Given the description of an element on the screen output the (x, y) to click on. 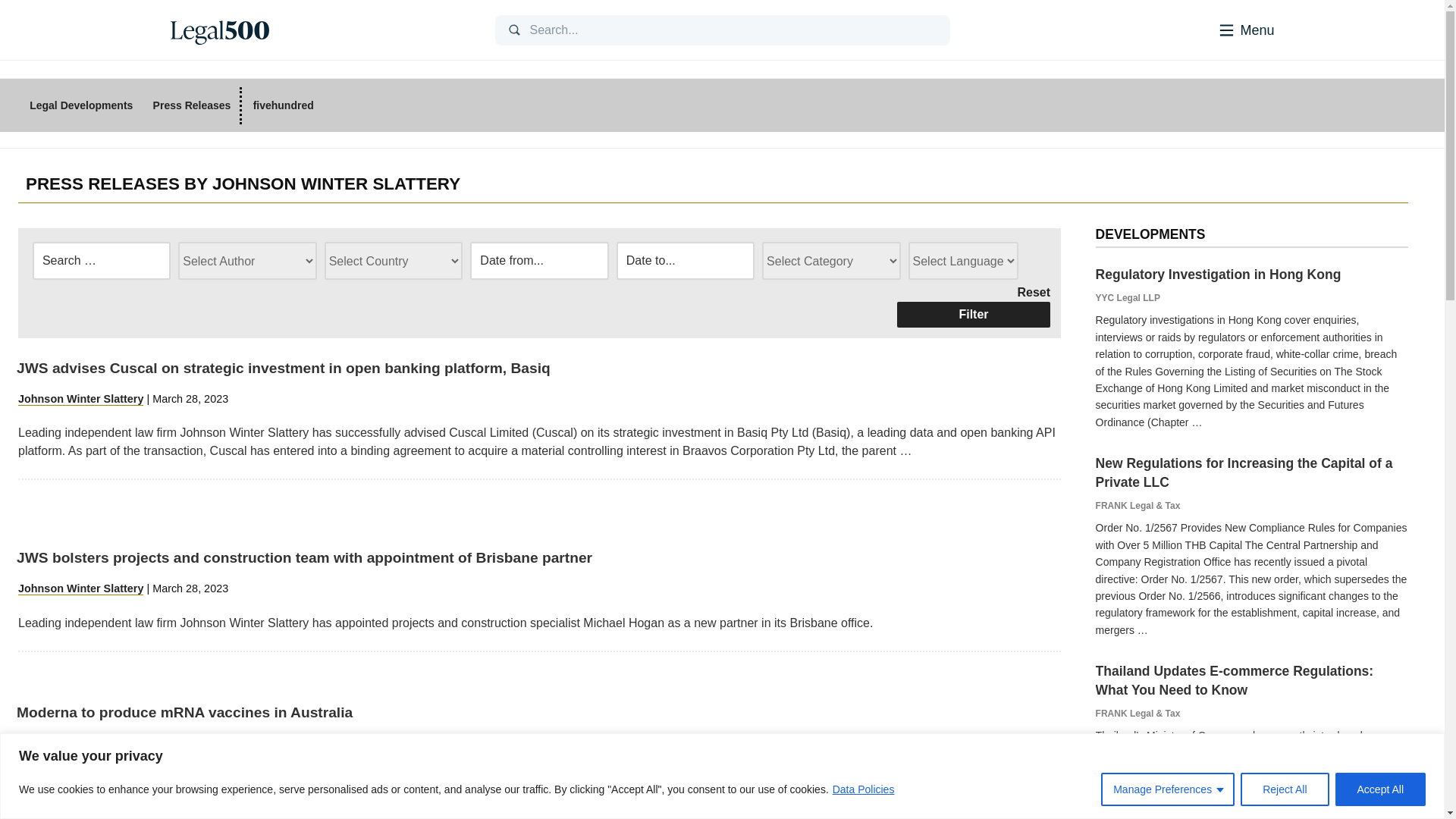
Reject All (1283, 788)
Legal 500 (218, 30)
Data Policies (863, 789)
Home (320, 30)
Accept All (1380, 788)
Menu (1225, 29)
Manage Preferences (1167, 788)
